Given the description of an element on the screen output the (x, y) to click on. 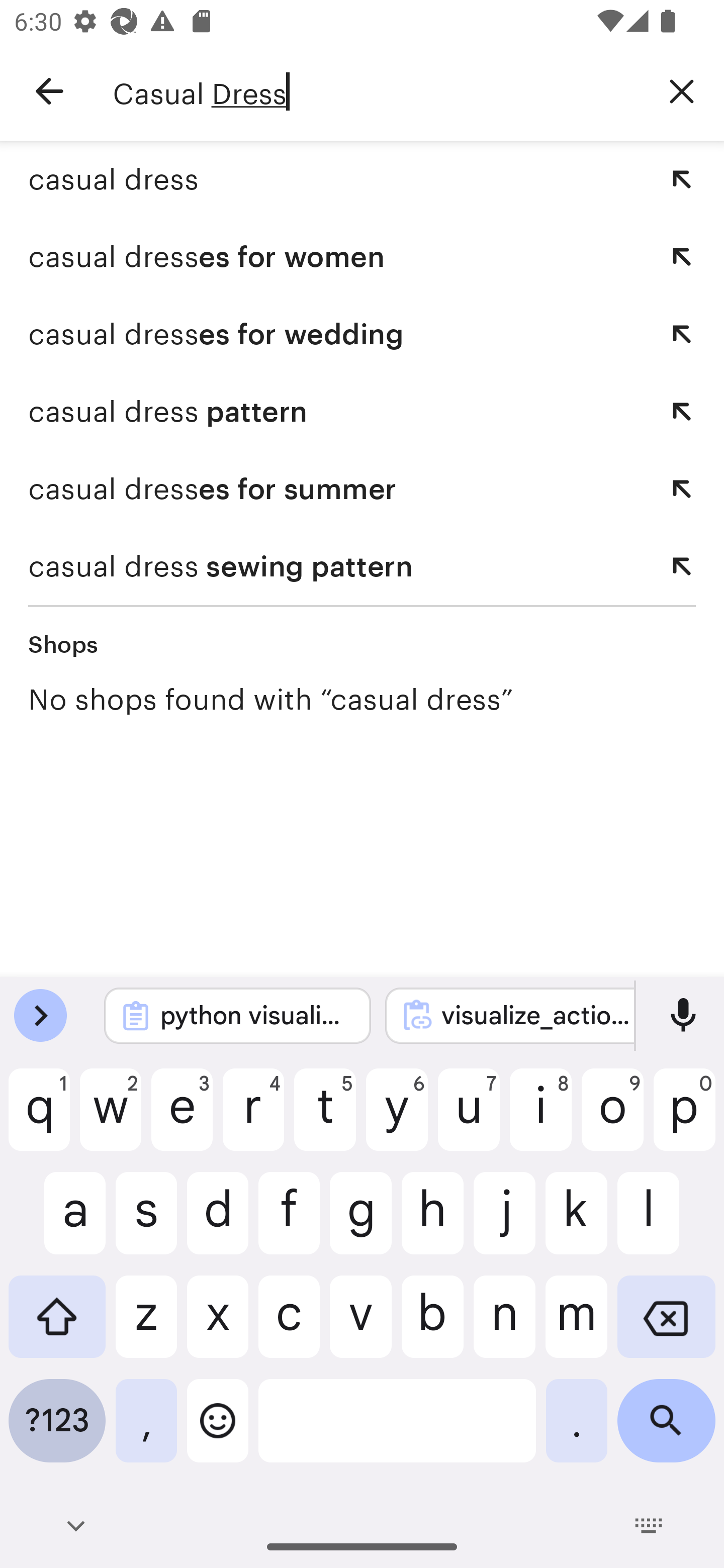
Navigate up (49, 91)
Clear query (681, 90)
Casual Dress (375, 91)
